Given the description of an element on the screen output the (x, y) to click on. 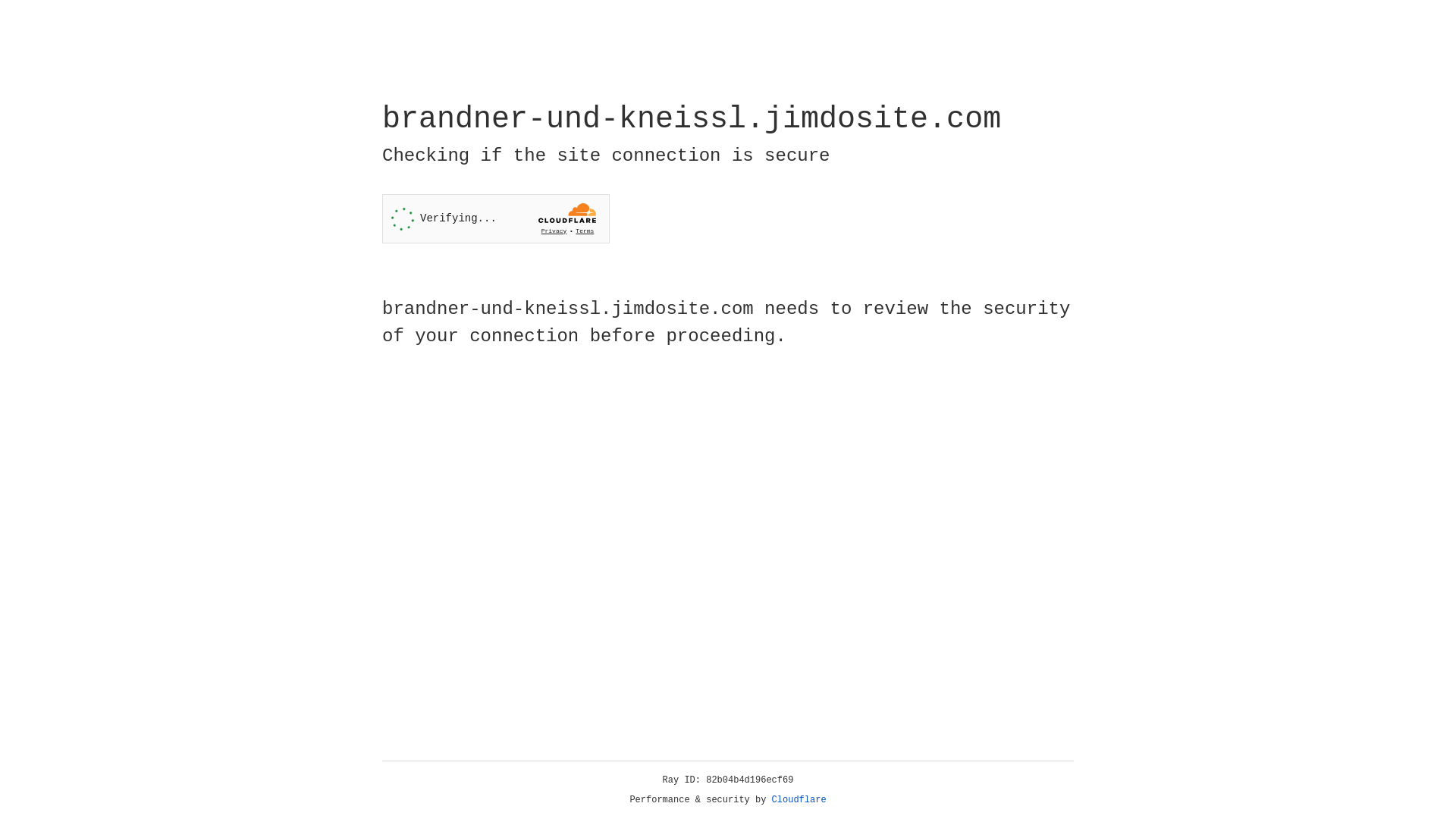
Widget containing a Cloudflare security challenge Element type: hover (495, 218)
Cloudflare Element type: text (798, 799)
